Given the description of an element on the screen output the (x, y) to click on. 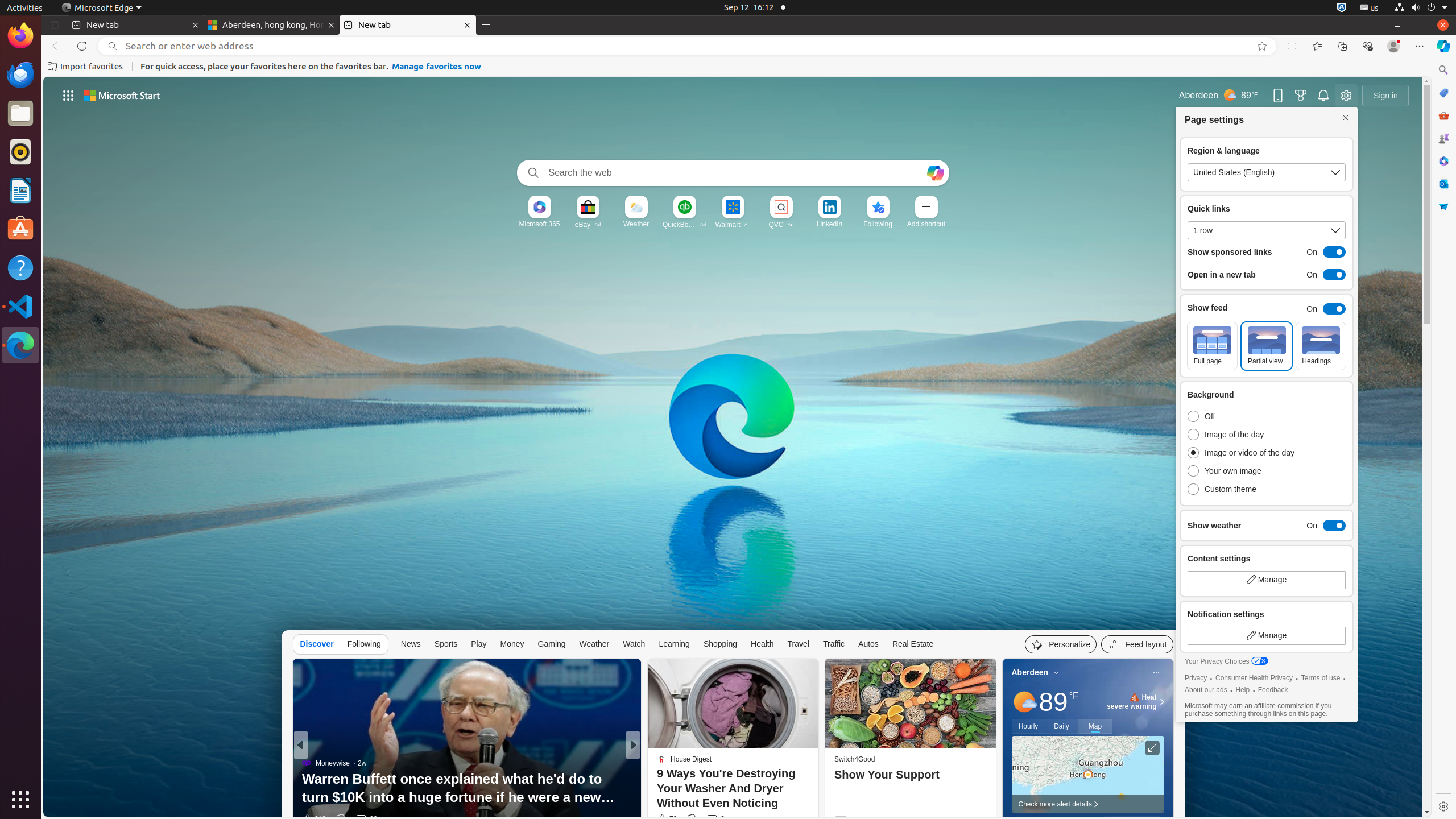
ECS-2520MV SMD Oscillator Element type: link (816, 799)
Page settings Element type: push-button (1345, 95)
System Element type: menu (1420, 7)
Headings Element type: push-button (1320, 345)
Firefox Web Browser Element type: push-button (20, 35)
